Given the description of an element on the screen output the (x, y) to click on. 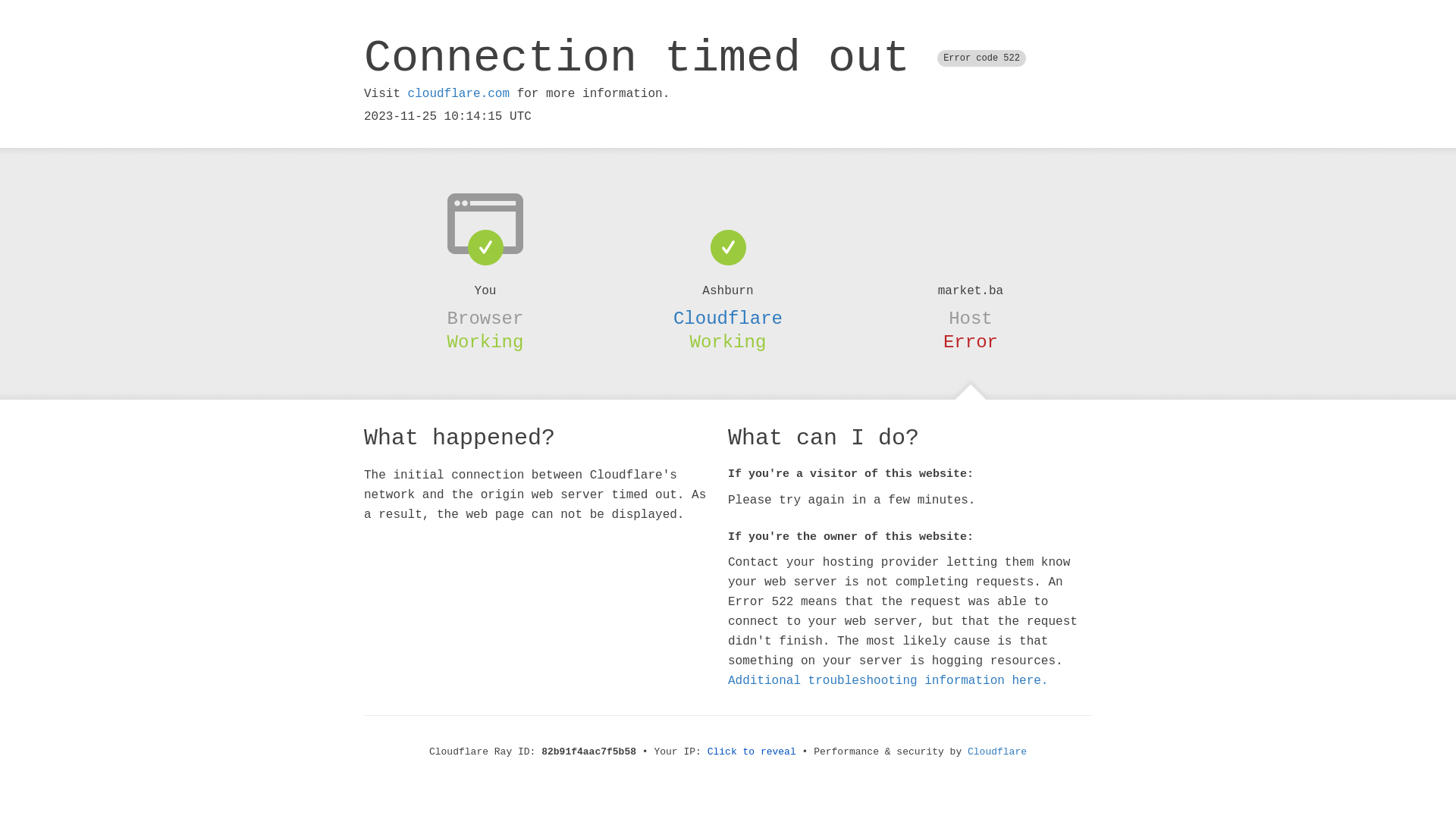
Cloudflare Element type: text (727, 318)
Additional troubleshooting information here. Element type: text (888, 680)
Click to reveal Element type: text (751, 751)
Cloudflare Element type: text (996, 751)
cloudflare.com Element type: text (458, 93)
